Given the description of an element on the screen output the (x, y) to click on. 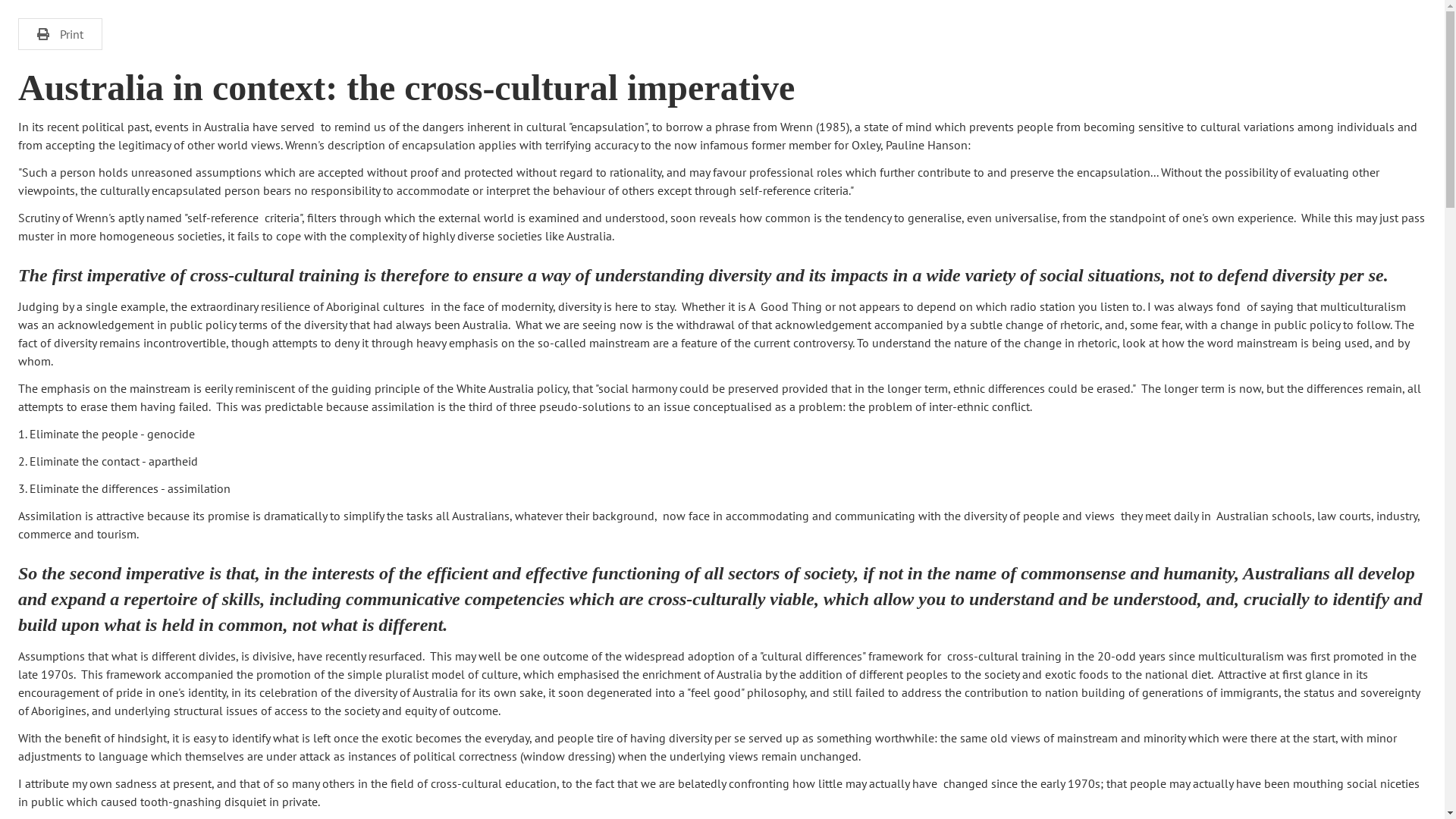
Print Element type: text (60, 33)
